Given the description of an element on the screen output the (x, y) to click on. 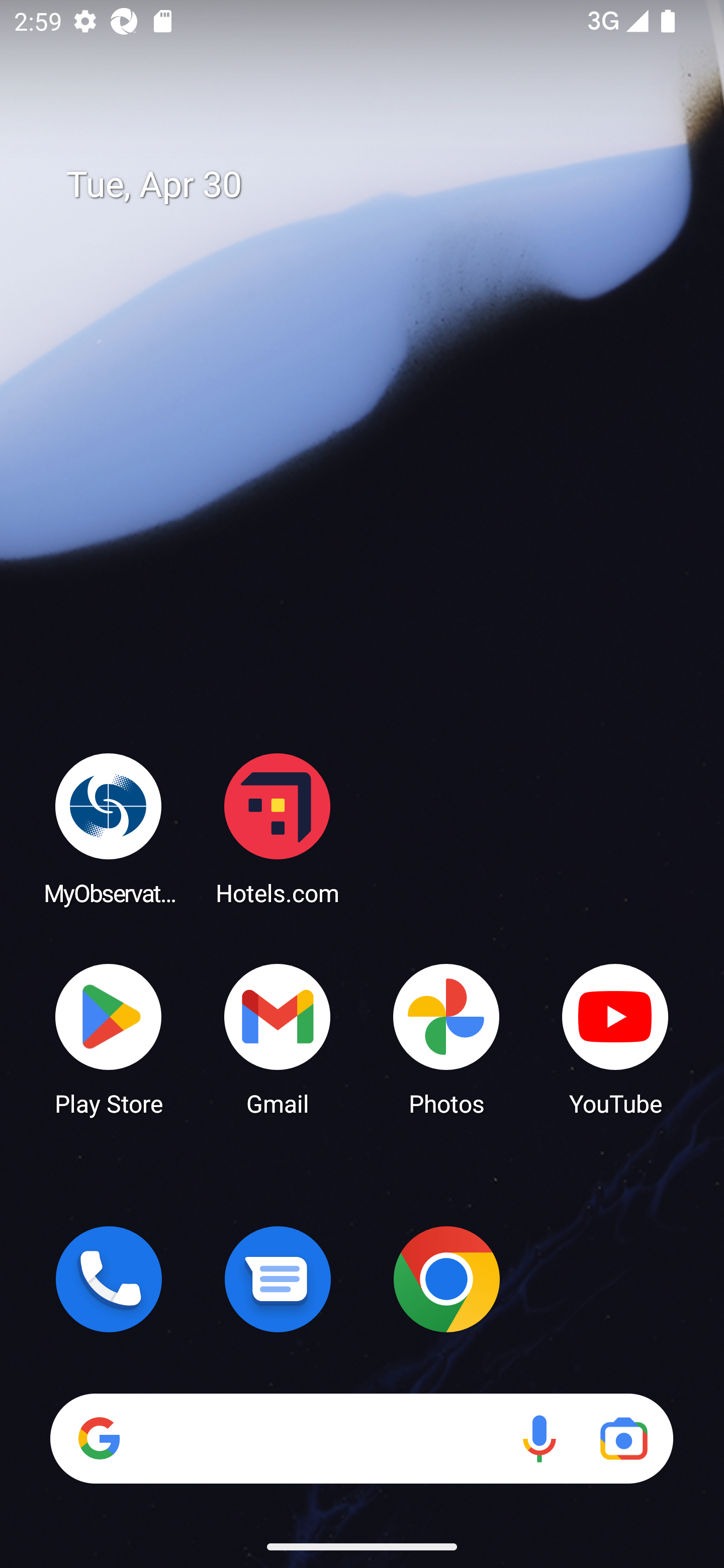
Tue, Apr 30 (375, 184)
MyObservatory (108, 828)
Hotels.com (277, 828)
Play Store (108, 1038)
Gmail (277, 1038)
Photos (445, 1038)
YouTube (615, 1038)
Phone (108, 1279)
Messages (277, 1279)
Chrome (446, 1279)
Search Voice search Google Lens (361, 1438)
Voice search (539, 1438)
Google Lens (623, 1438)
